Given the description of an element on the screen output the (x, y) to click on. 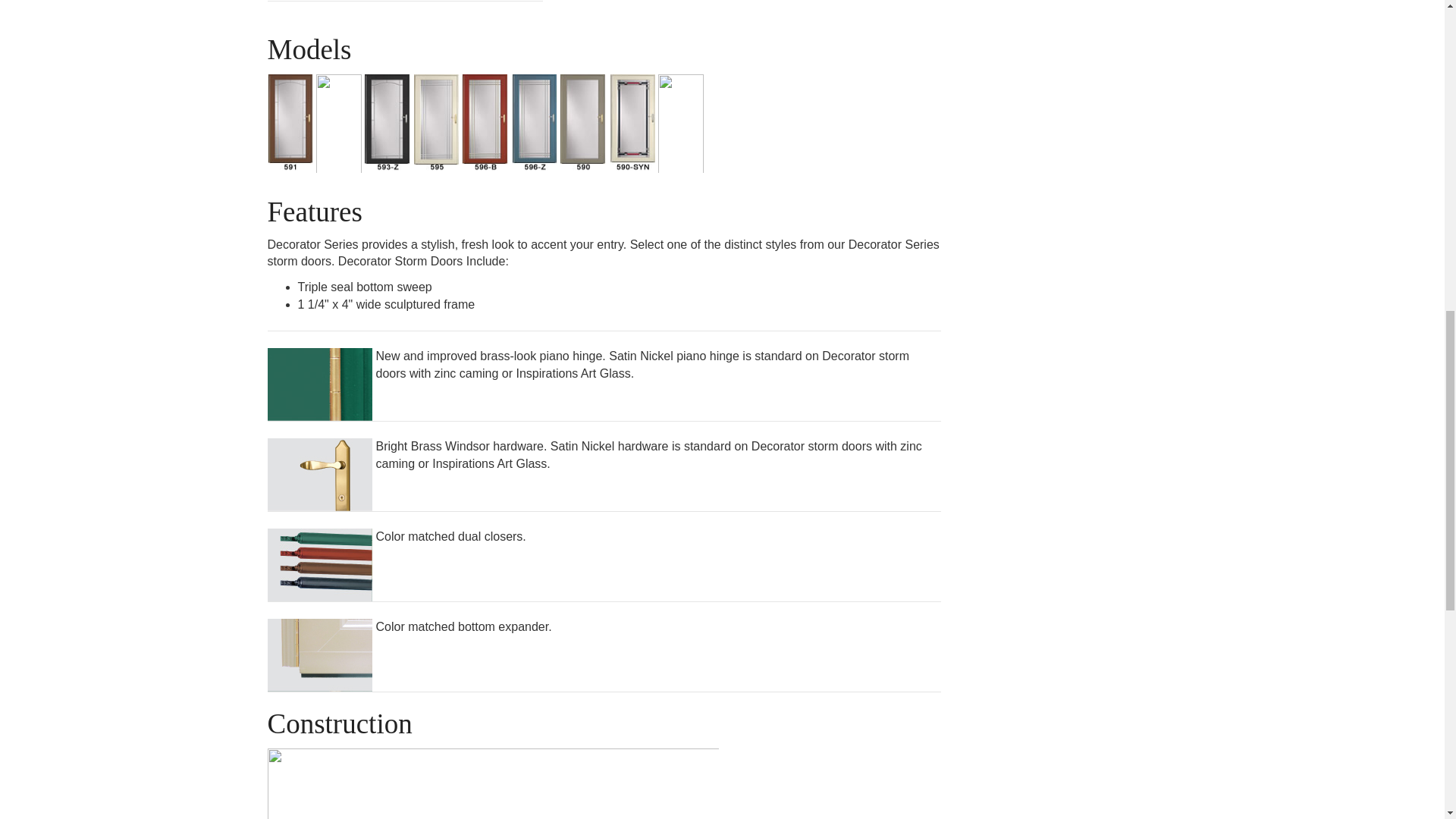
591 (289, 125)
595 (436, 125)
590 (582, 125)
590-VIN (680, 125)
590-SYN (632, 125)
593B (338, 125)
596B (485, 125)
596Z (534, 125)
593Z (387, 125)
